Given the description of an element on the screen output the (x, y) to click on. 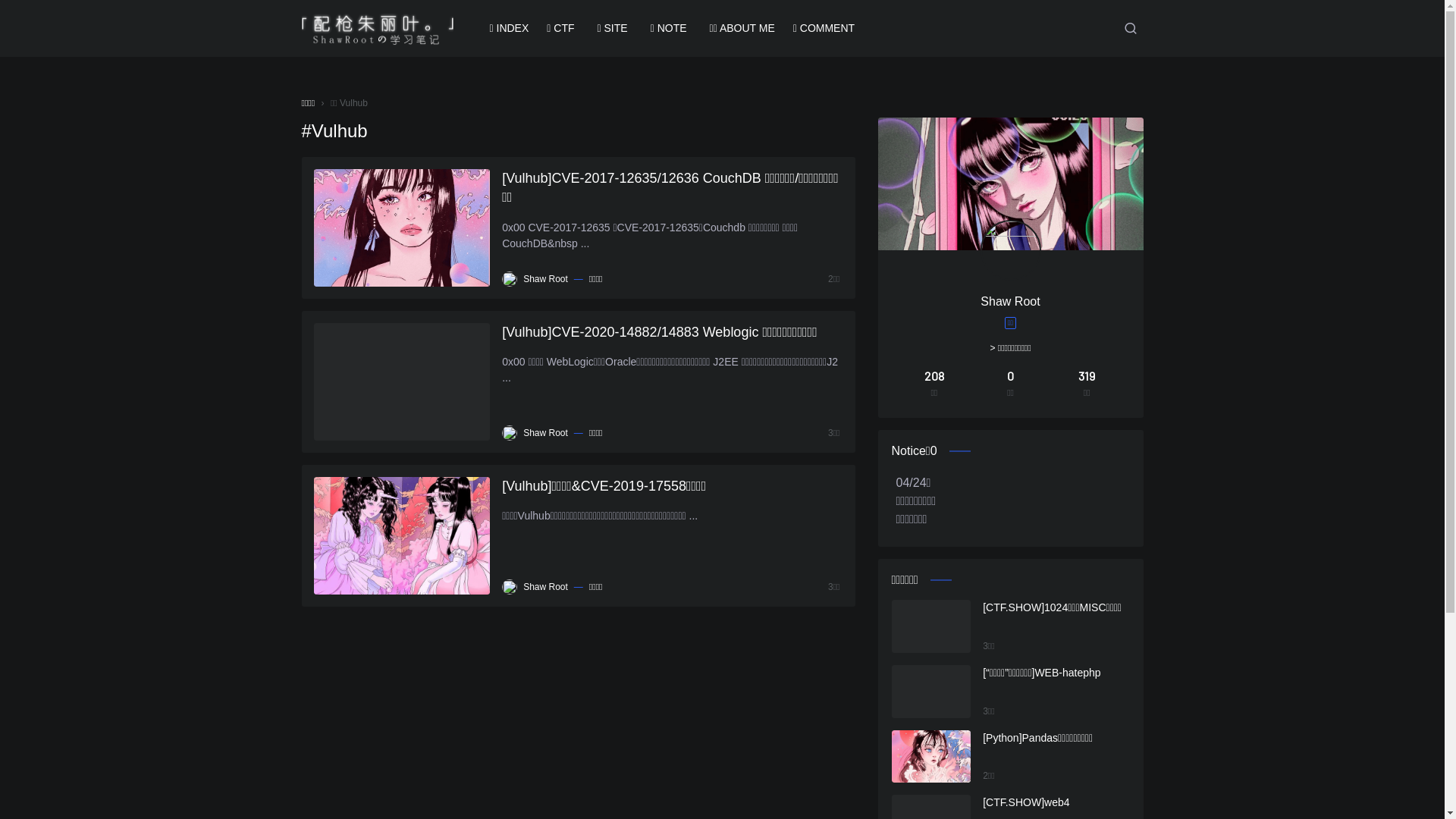
Shaw Root Element type: text (545, 278)
Shaw Root Element type: text (545, 586)
Shaw Root Element type: text (545, 432)
[CTF.SHOW]web4 Element type: text (1055, 801)
Search Element type: hover (1130, 27)
